Given the description of an element on the screen output the (x, y) to click on. 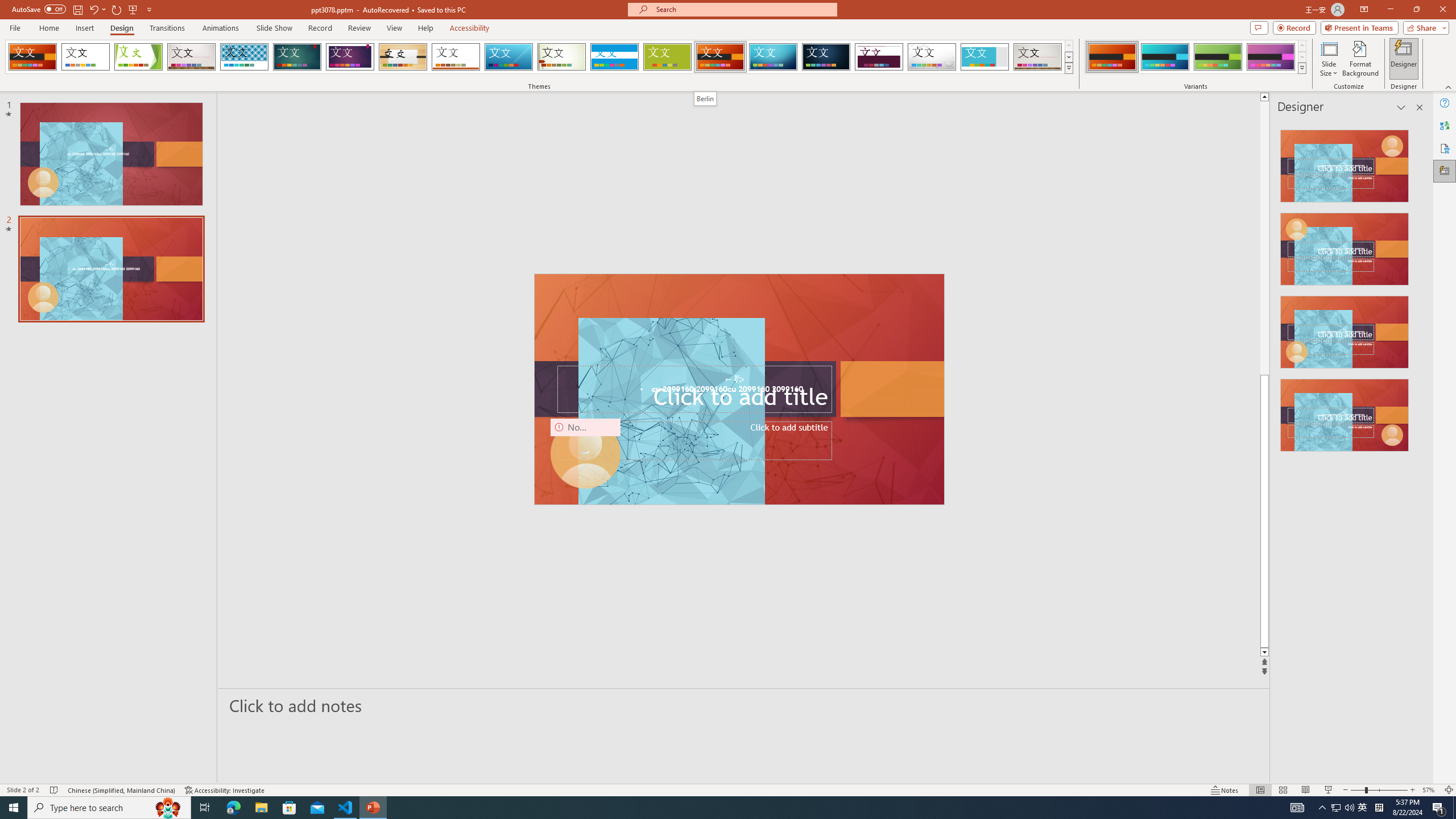
Themes (1068, 67)
Ion Boardroom (350, 56)
Banded (614, 56)
Ion (296, 56)
Title TextBox (694, 389)
